Given the description of an element on the screen output the (x, y) to click on. 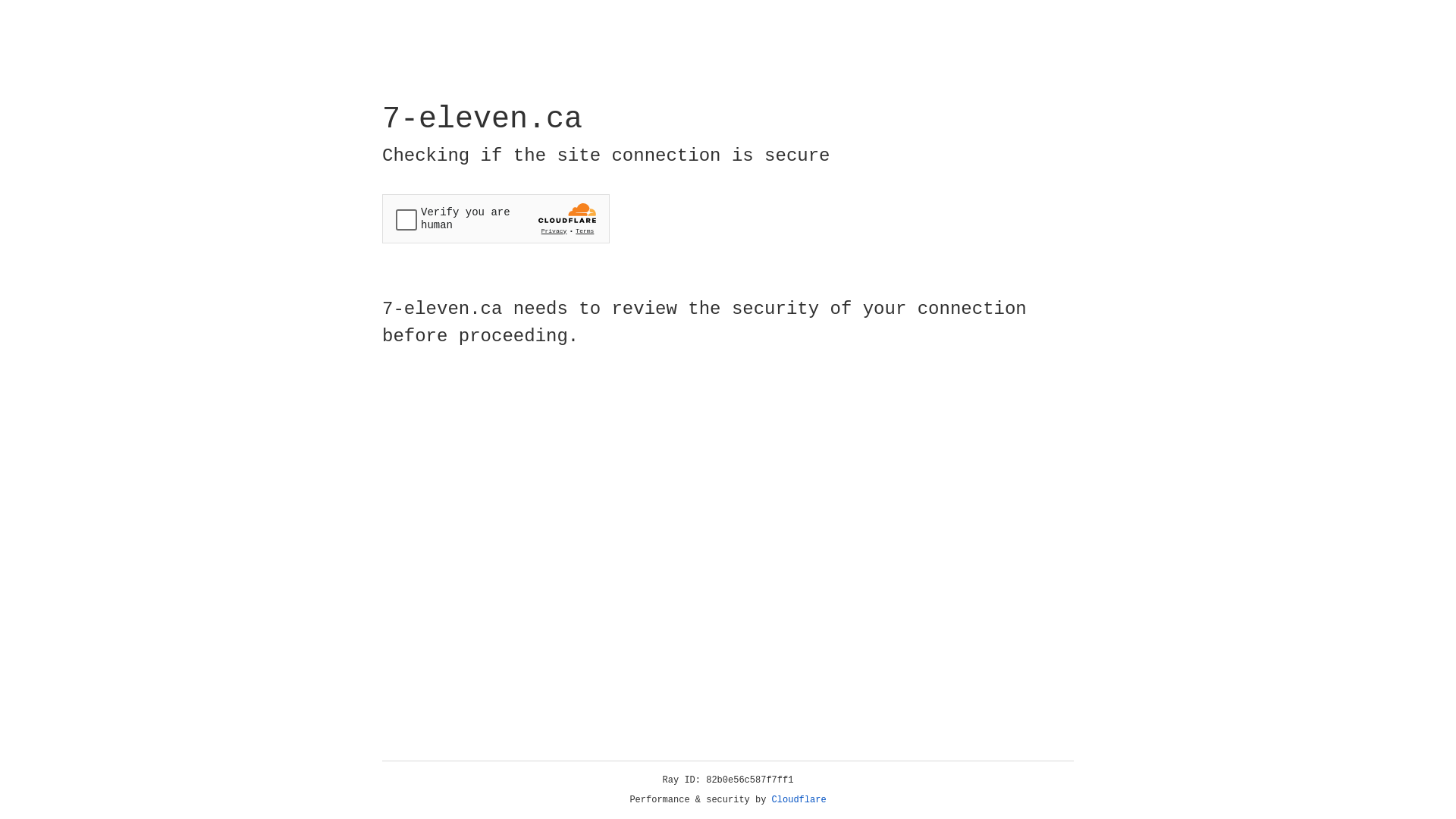
Cloudflare Element type: text (798, 799)
Widget containing a Cloudflare security challenge Element type: hover (495, 218)
